Given the description of an element on the screen output the (x, y) to click on. 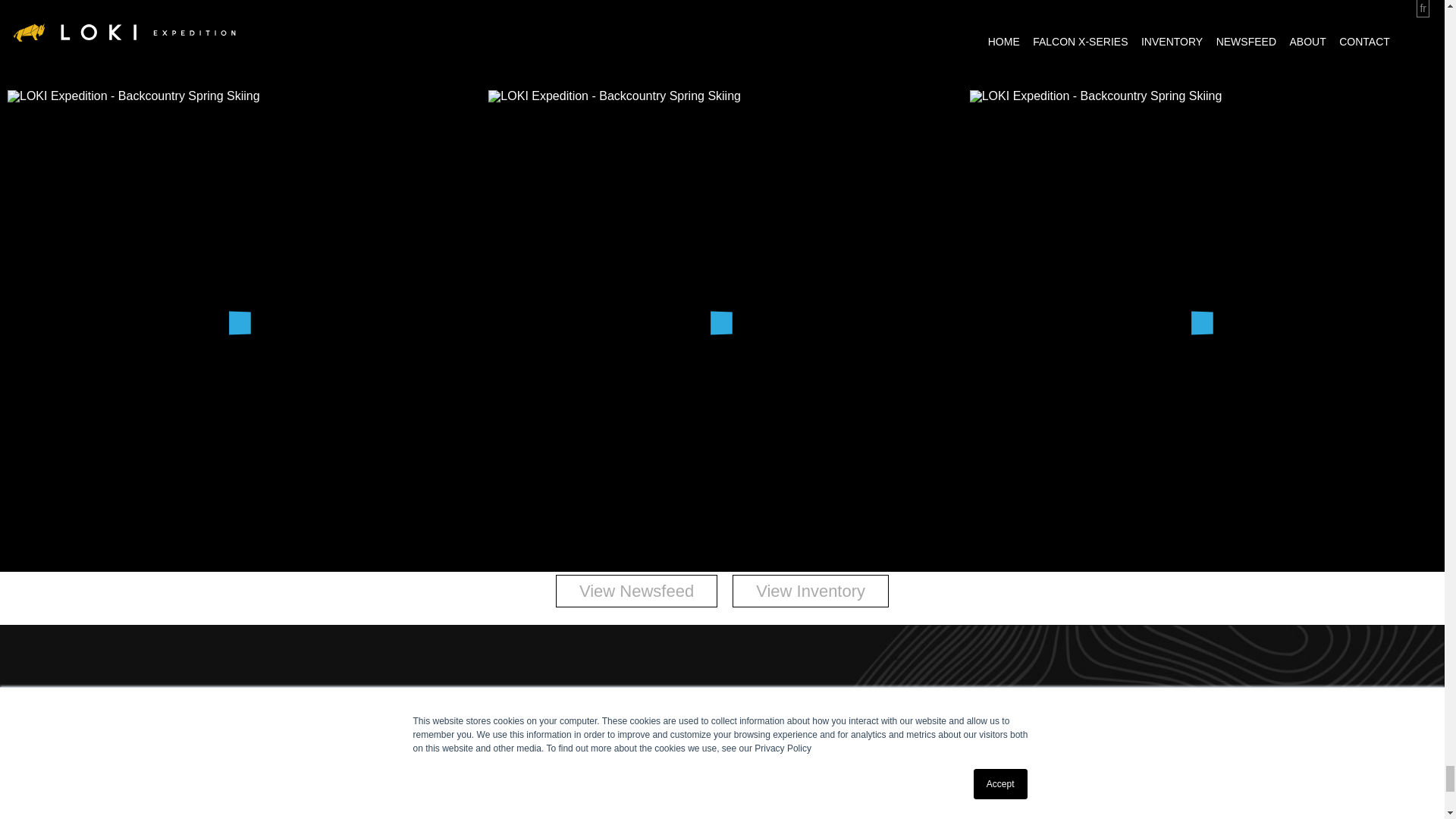
Submit (721, 811)
